Given the description of an element on the screen output the (x, y) to click on. 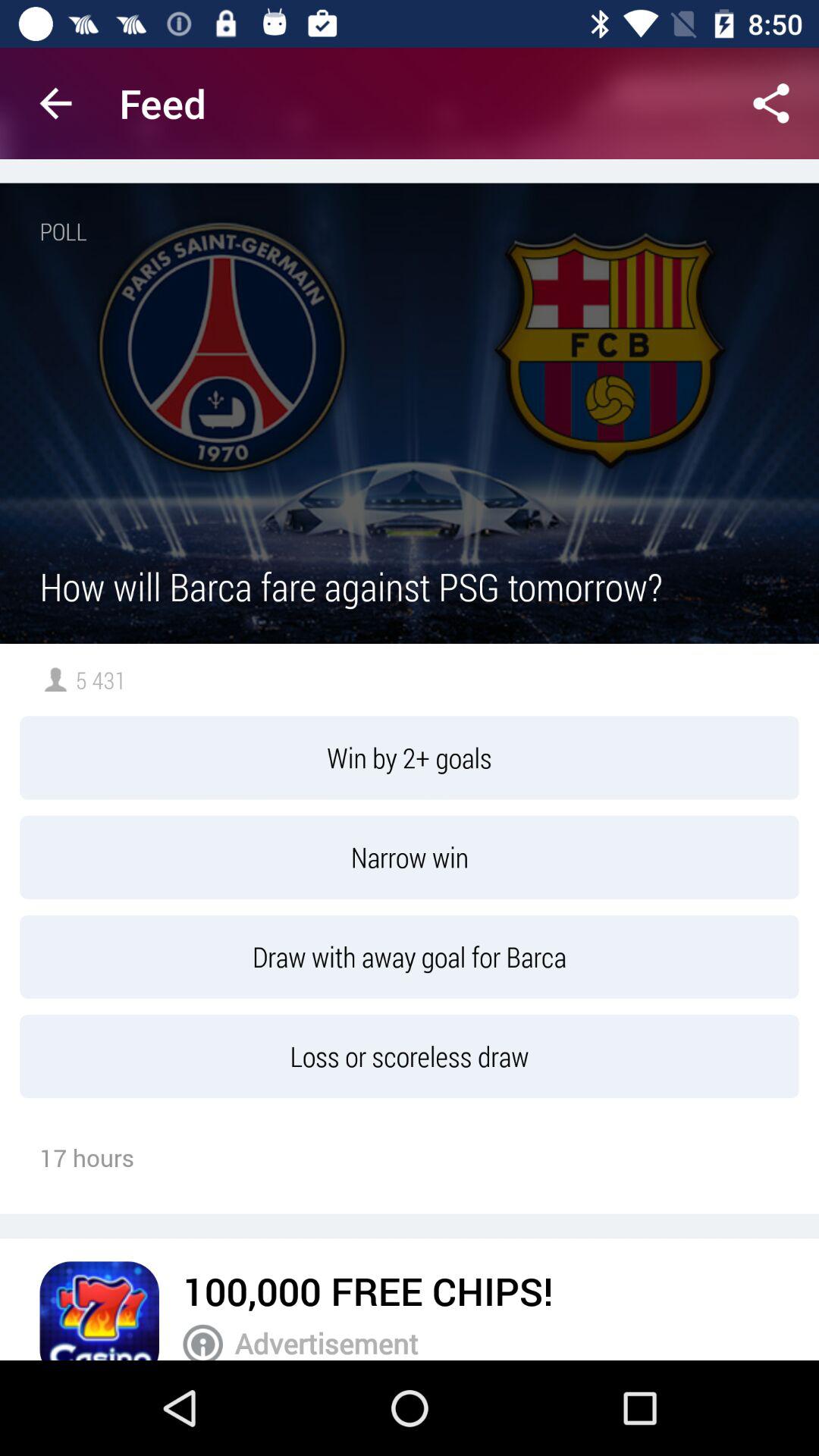
select the narrow win icon (409, 857)
